Given the description of an element on the screen output the (x, y) to click on. 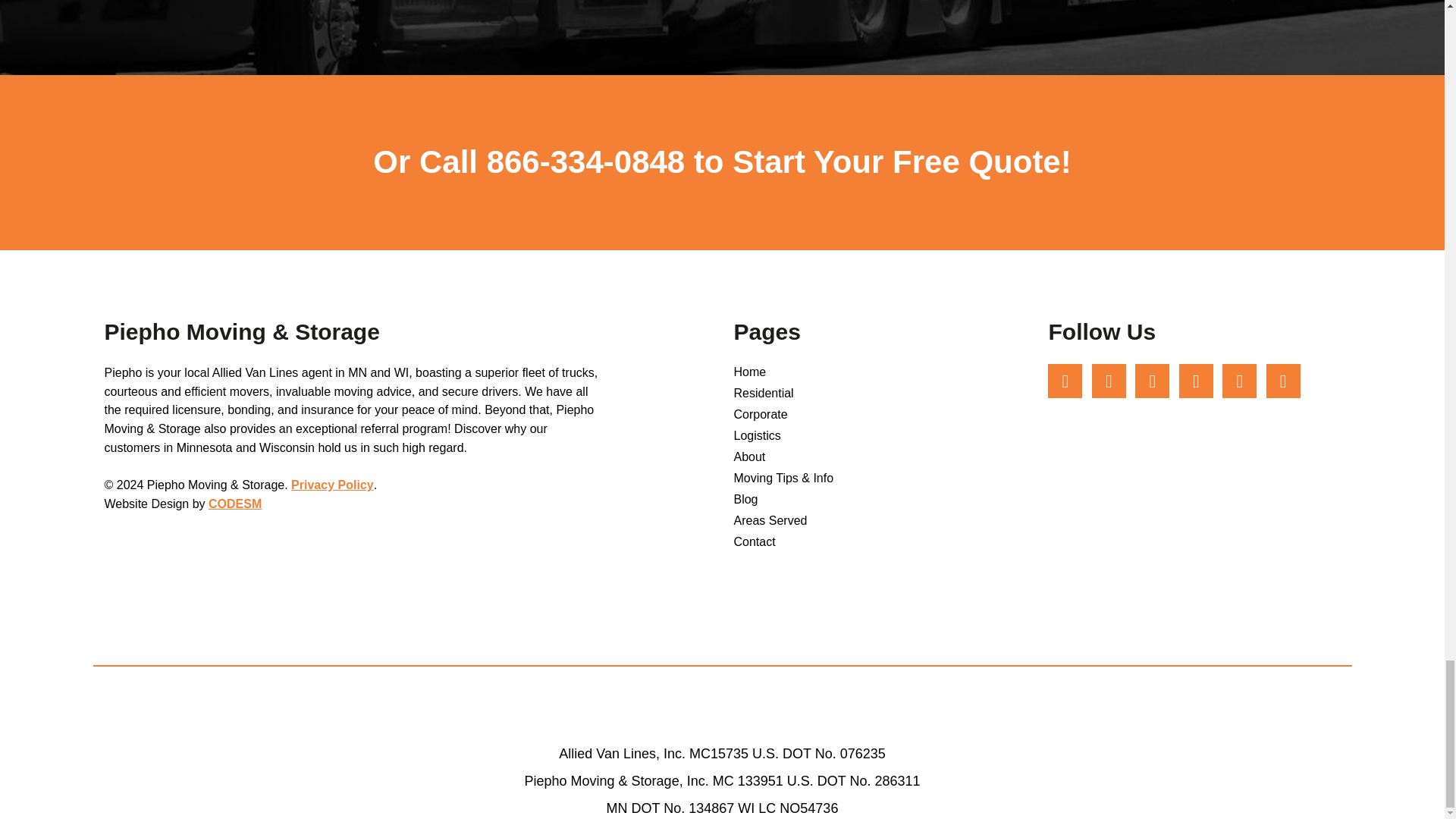
LinkedIn (1195, 380)
Instagram (1108, 380)
Youtube (1152, 380)
Facebook (1064, 380)
Yelp (1283, 380)
Twitter (1239, 380)
Goto CODESM Marketing Website (235, 503)
